Given the description of an element on the screen output the (x, y) to click on. 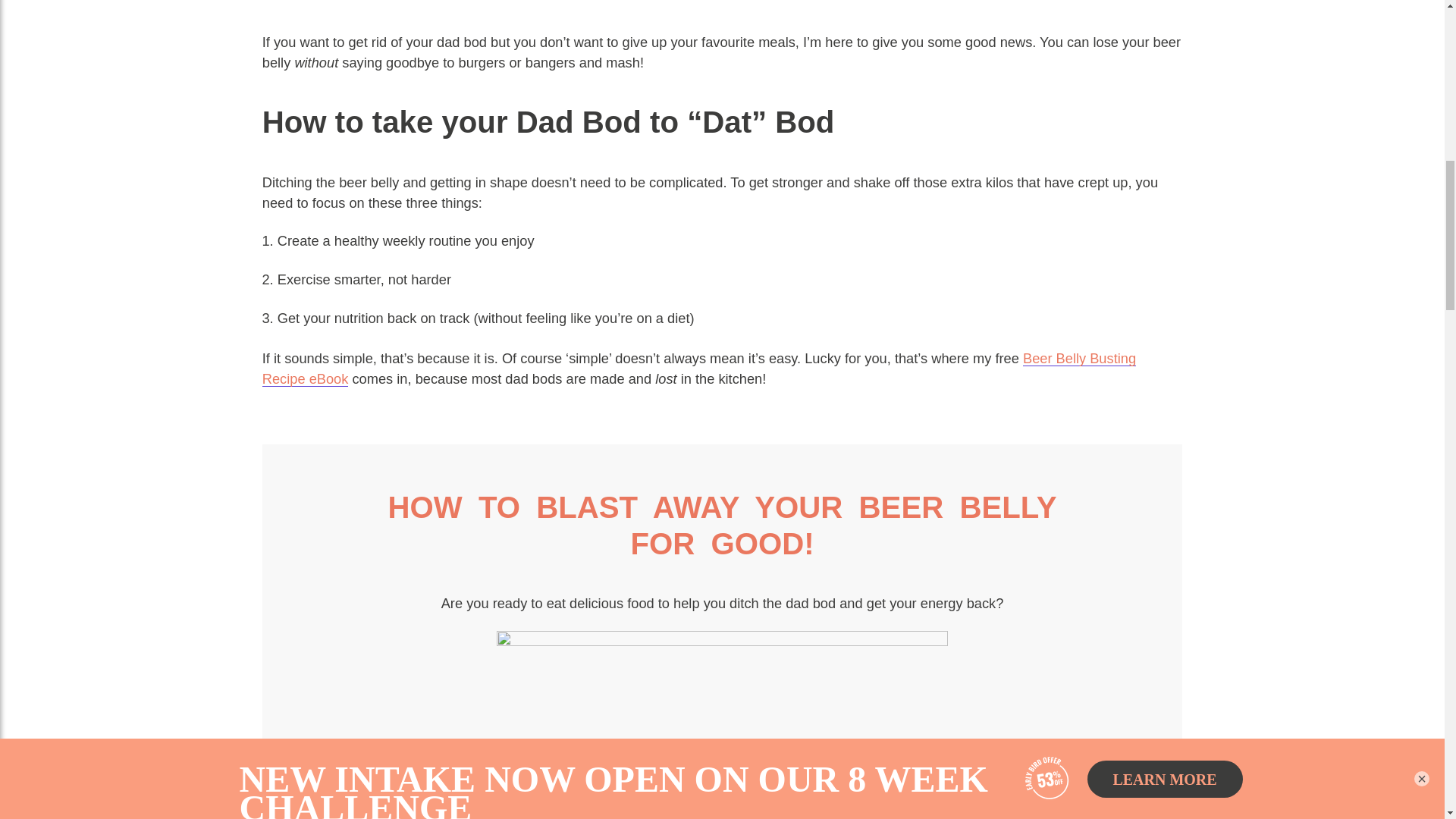
Beer Belly Busting Recipe eBook (698, 368)
